Given the description of an element on the screen output the (x, y) to click on. 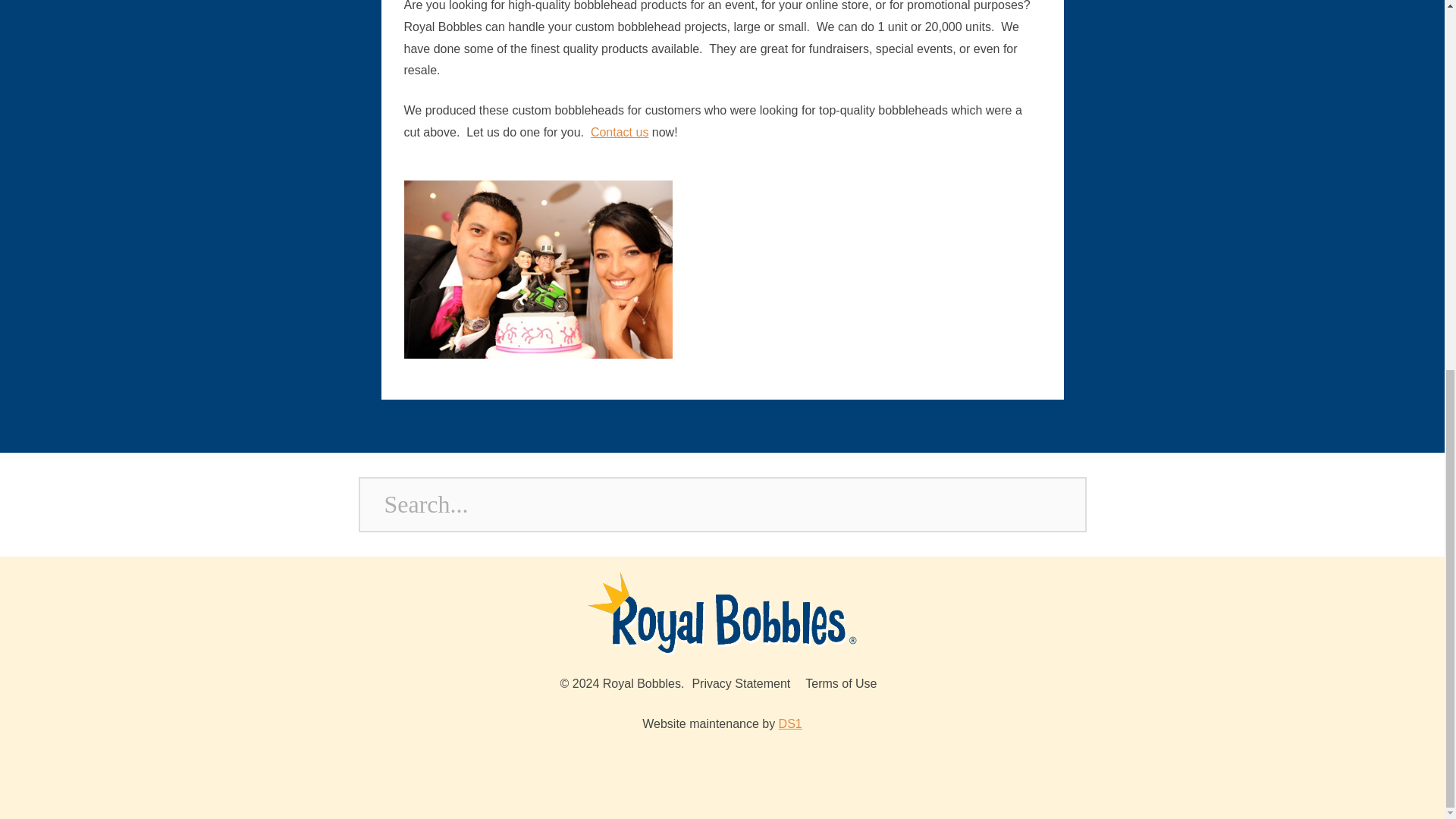
RoyalBobbles (721, 613)
Terms of Use (840, 683)
DS1 (790, 723)
Contact us (619, 132)
Search... (722, 504)
Privacy Statement (740, 683)
Contact Us (619, 132)
